Given the description of an element on the screen output the (x, y) to click on. 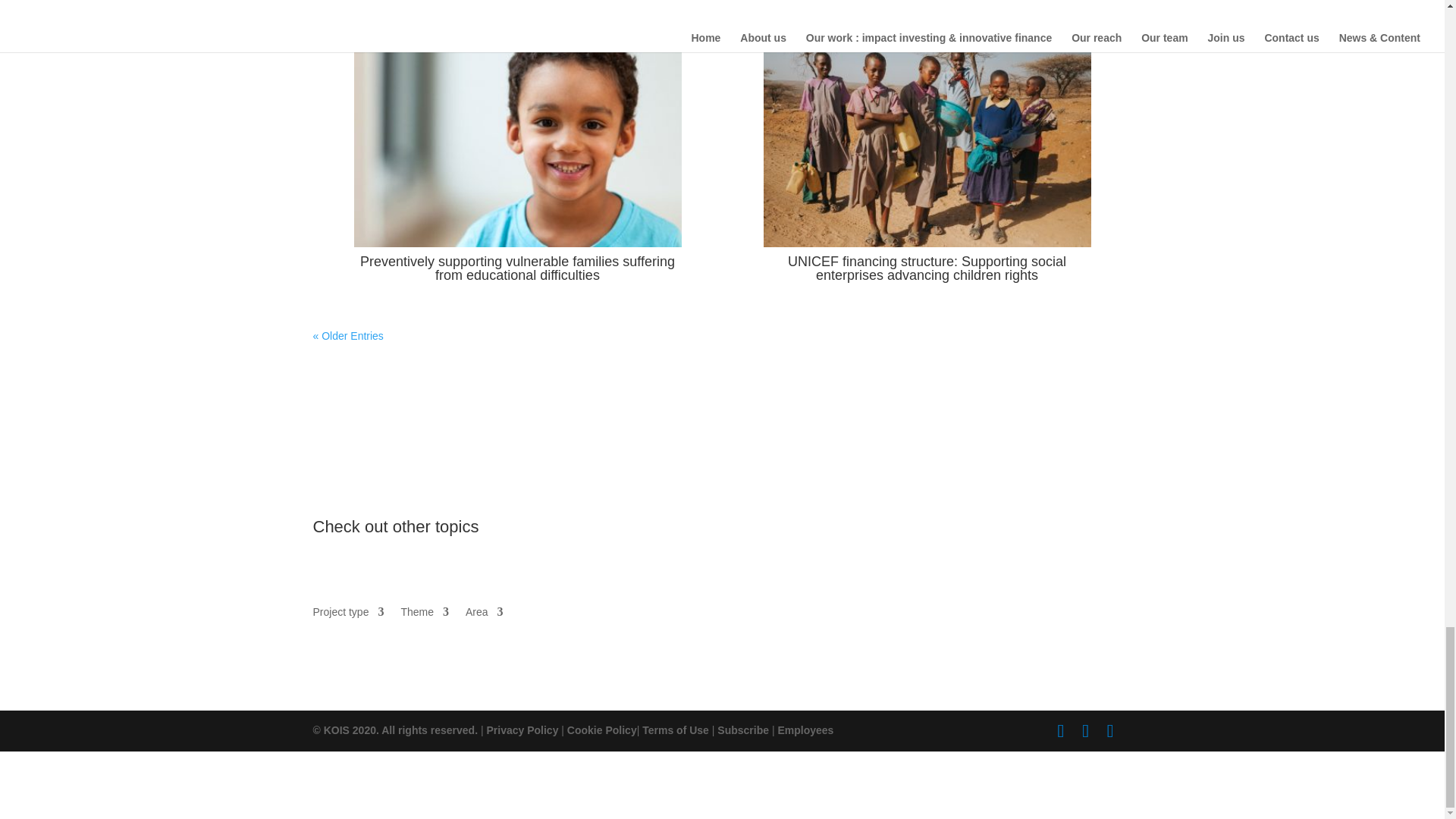
Theme (424, 614)
Project type (348, 614)
Area (484, 614)
